Given the description of an element on the screen output the (x, y) to click on. 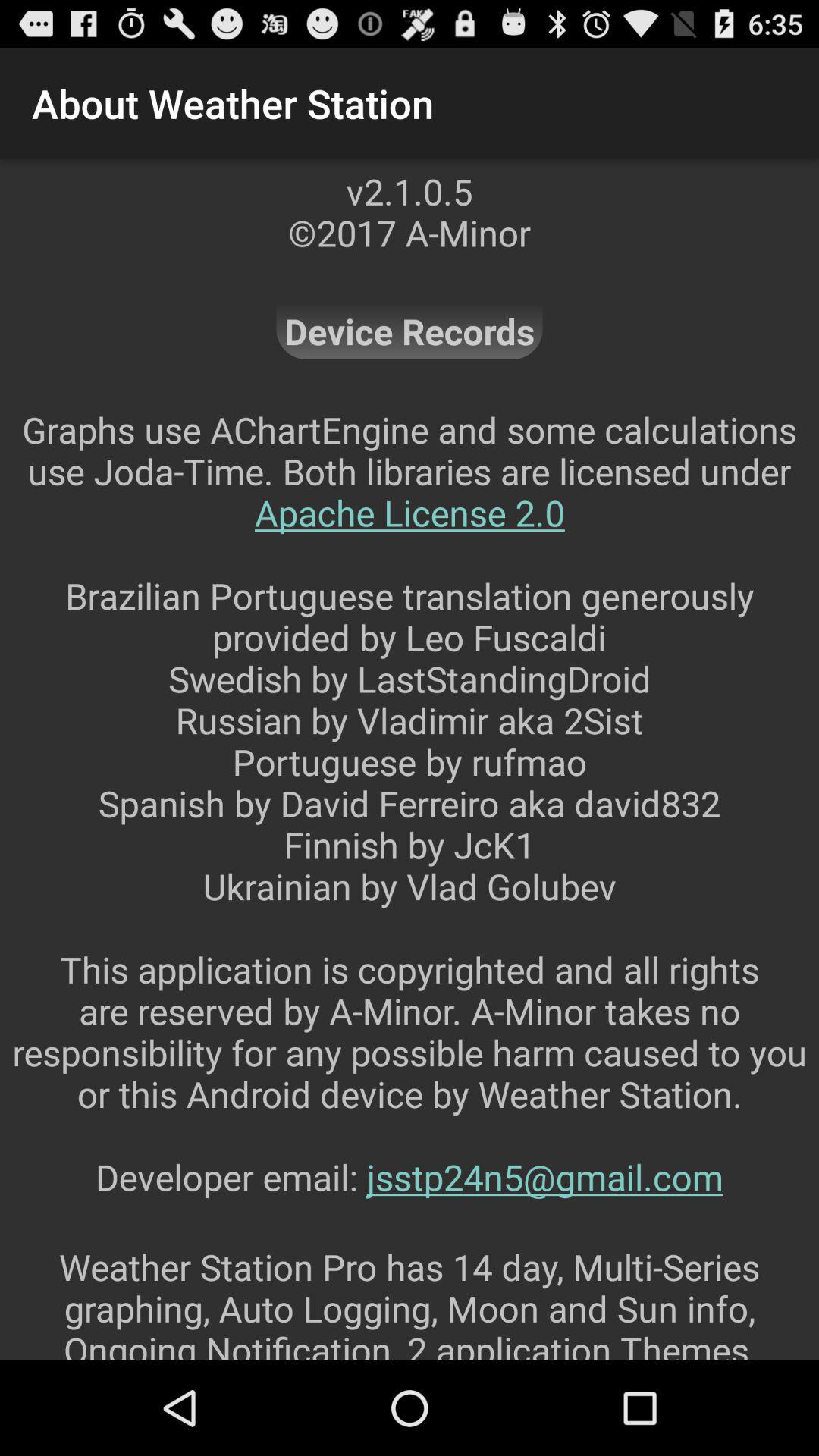
turn off the item above graphs use achartengine app (409, 331)
